Given the description of an element on the screen output the (x, y) to click on. 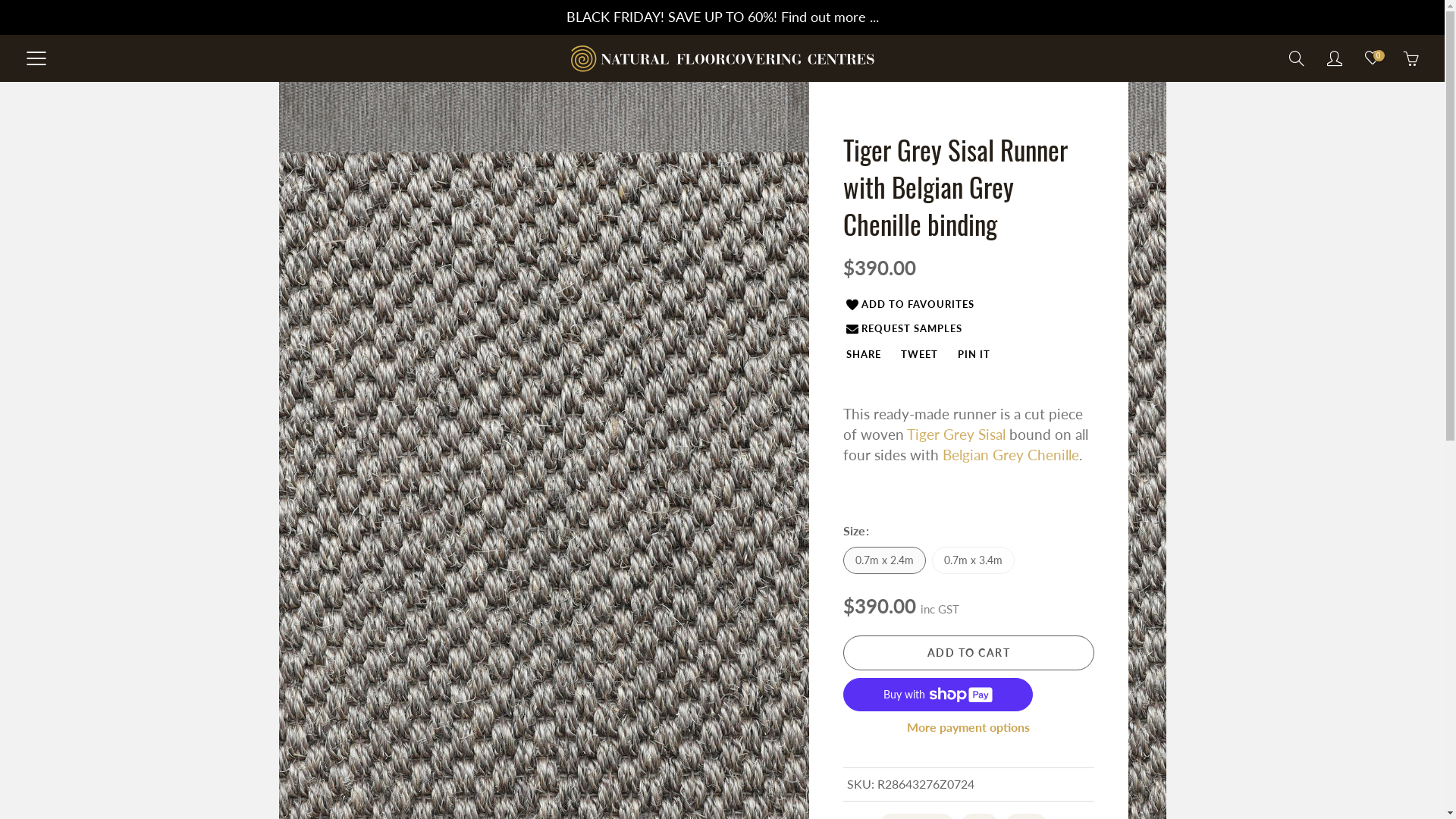
ADD TO FAVOURITES Element type: text (910, 304)
Search Element type: text (1296, 58)
Belgian Grey Chenille Element type: text (1009, 454)
PIN IT Element type: text (973, 353)
Press space bar to toggle menu Element type: text (35, 58)
FAVOURITES Element type: text (1372, 58)
You have 0 items in your cart Element type: text (1410, 58)
ADD TO CART Element type: text (969, 652)
TWEET Element type: text (919, 353)
Belgian Grey Chenille Element type: hover (1041, 183)
SHARE Element type: text (863, 353)
BLACK FRIDAY! SAVE UP TO 60%! Find out more ... Element type: text (722, 17)
REQUEST SAMPLES Element type: text (904, 328)
Tiger Grey Sisal Element type: text (955, 433)
More payment options Element type: text (969, 727)
Belgian Grey Chenille Element type: hover (533, 183)
My account Element type: text (1334, 58)
